Given the description of an element on the screen output the (x, y) to click on. 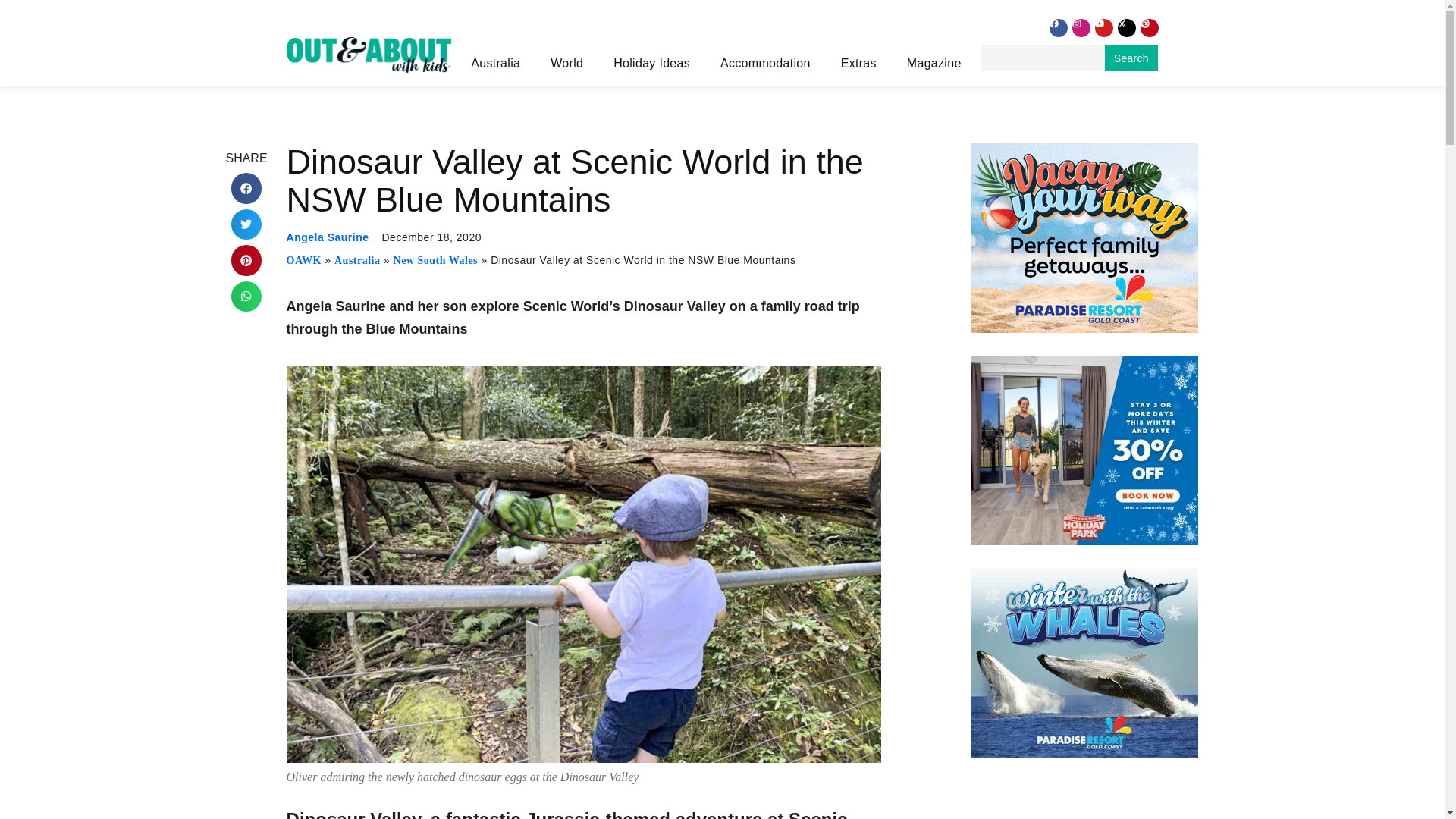
Holiday Ideas (655, 63)
Advertisement (1085, 799)
World (570, 63)
Australia (499, 63)
Accommodation (769, 63)
Extras (862, 63)
